Given the description of an element on the screen output the (x, y) to click on. 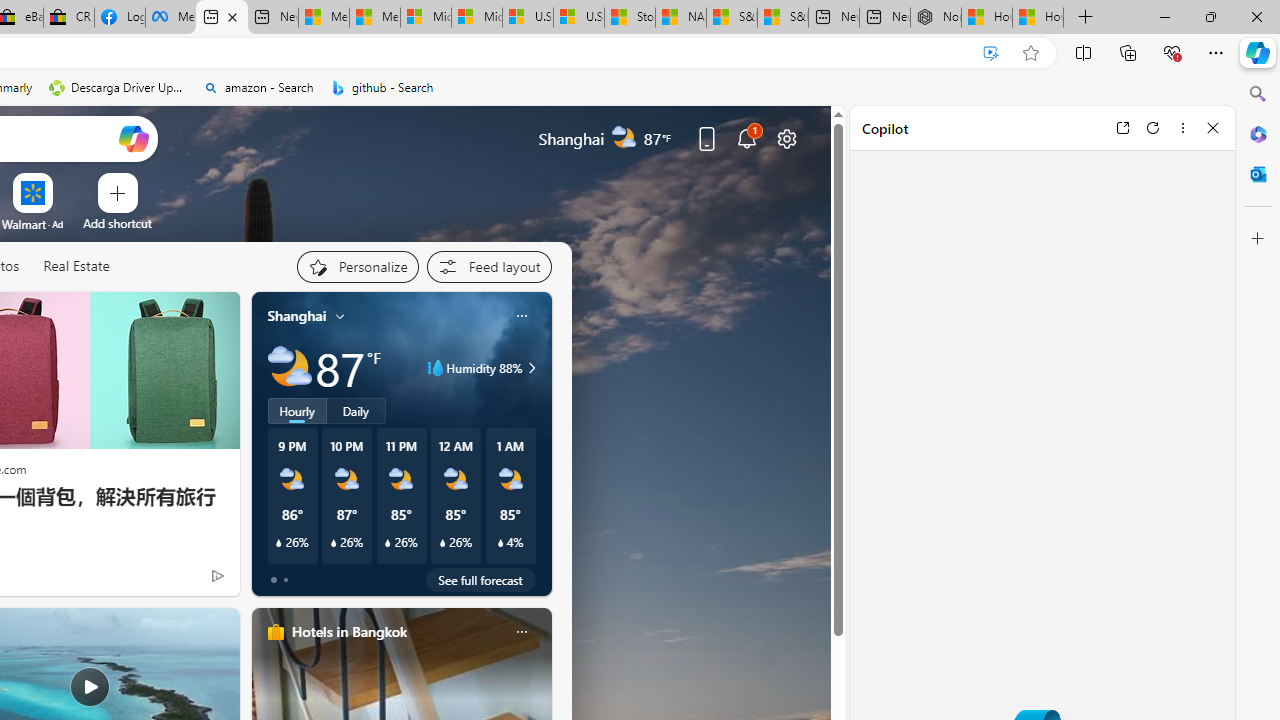
See full forecast (480, 579)
github - Search (381, 88)
S&P 500, Nasdaq end lower, weighed by Nvidia dip | Watch (782, 17)
